Given the description of an element on the screen output the (x, y) to click on. 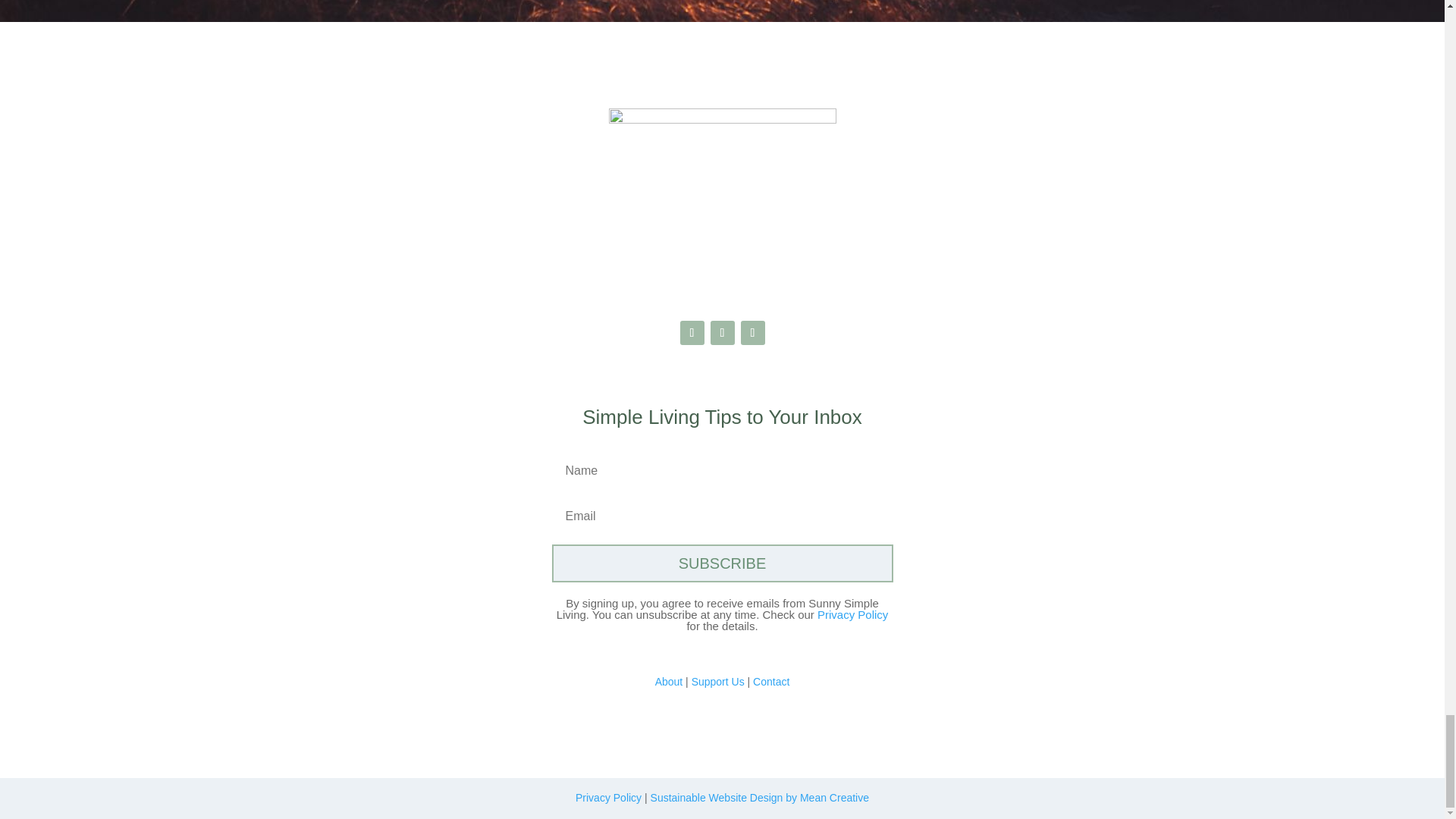
Follow on Pinterest (751, 332)
Follow on Facebook (691, 332)
Follow on Instagram (721, 332)
